Given the description of an element on the screen output the (x, y) to click on. 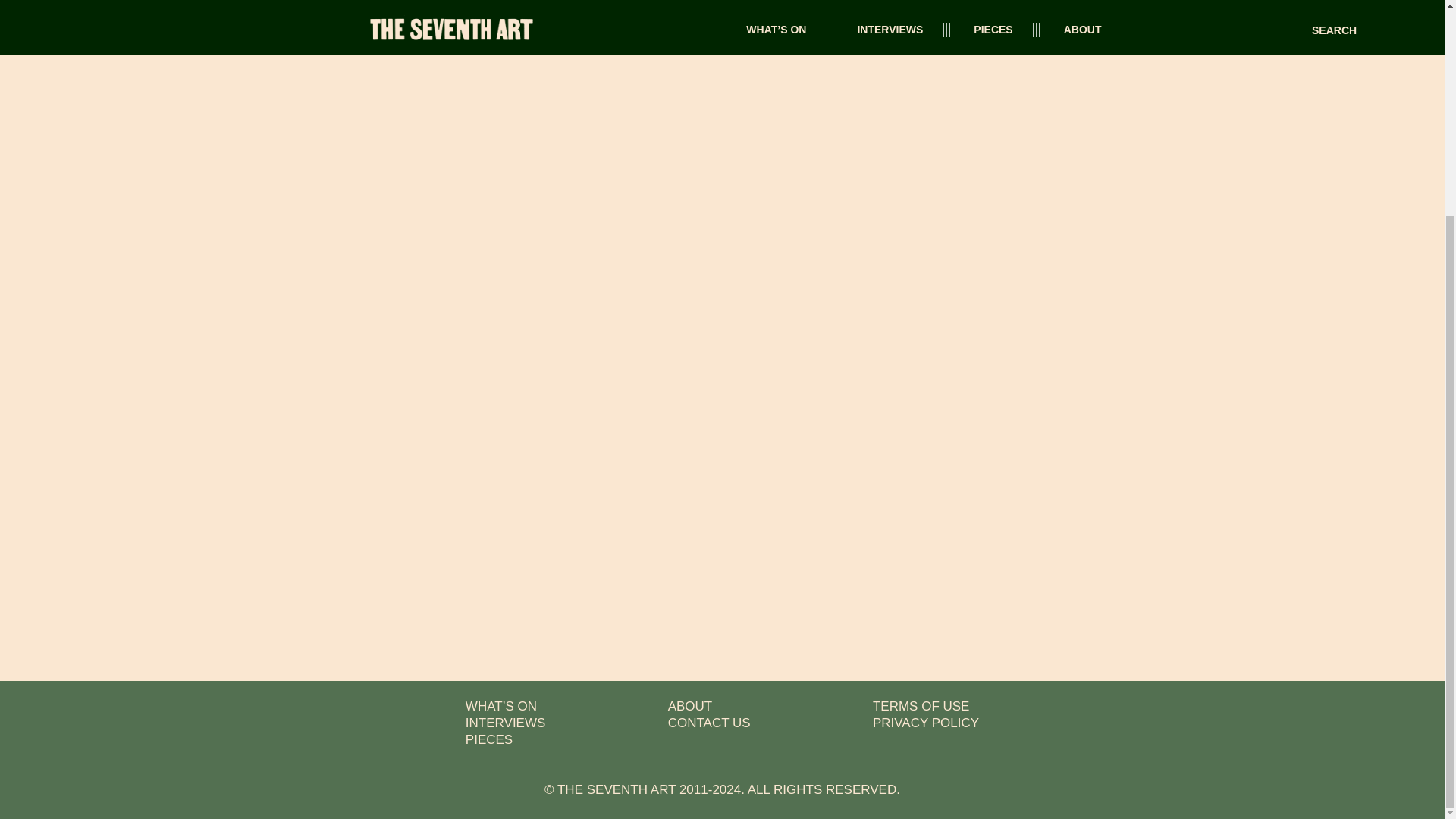
TERMS OF USE (920, 706)
PIECES (488, 739)
PRIVACY POLICY (925, 722)
ABOUT (690, 706)
CONTACT US (709, 722)
INTERVIEWS (504, 722)
